Given the description of an element on the screen output the (x, y) to click on. 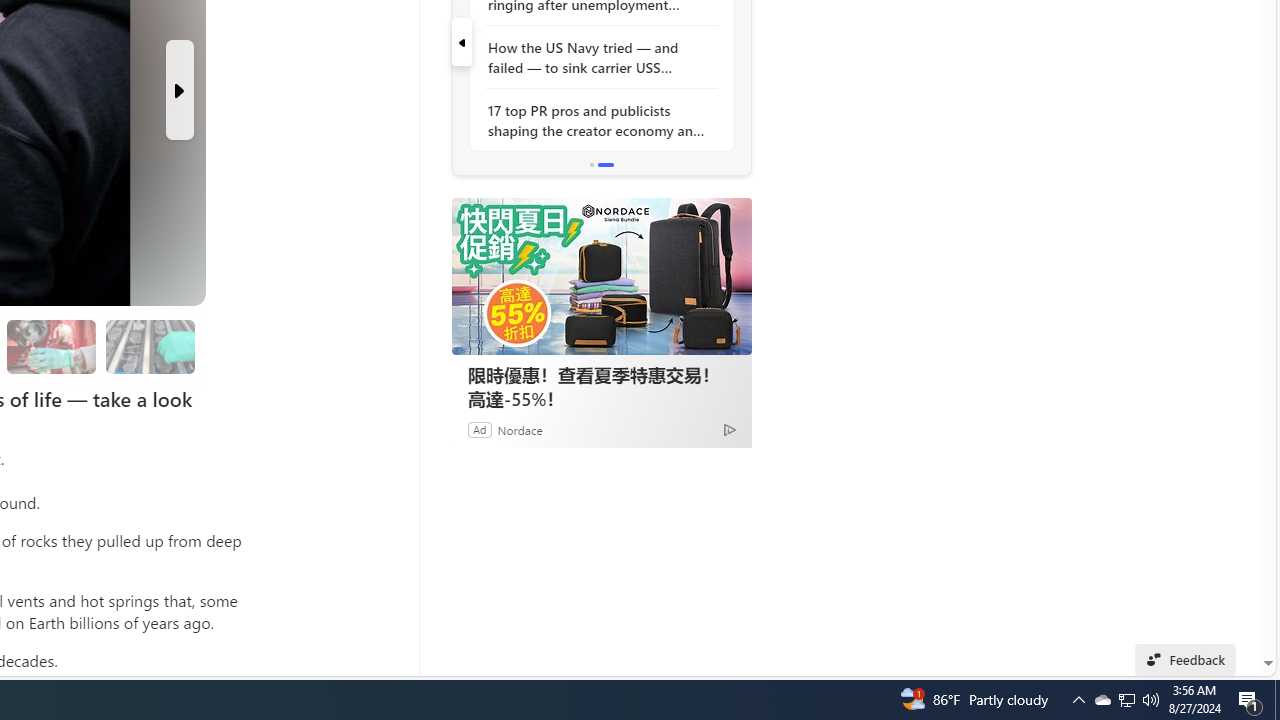
Class: progress (149, 343)
Researchers are still studying the samples (149, 346)
previous (461, 42)
Researchers are still studying the samples (150, 346)
Next Slide (179, 89)
